Given the description of an element on the screen output the (x, y) to click on. 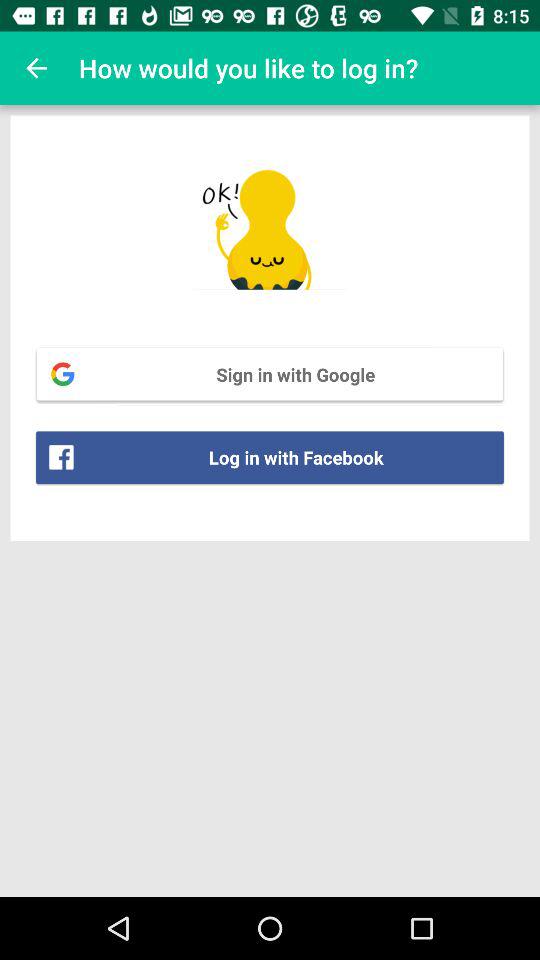
choose item above the sign in with item (36, 68)
